Given the description of an element on the screen output the (x, y) to click on. 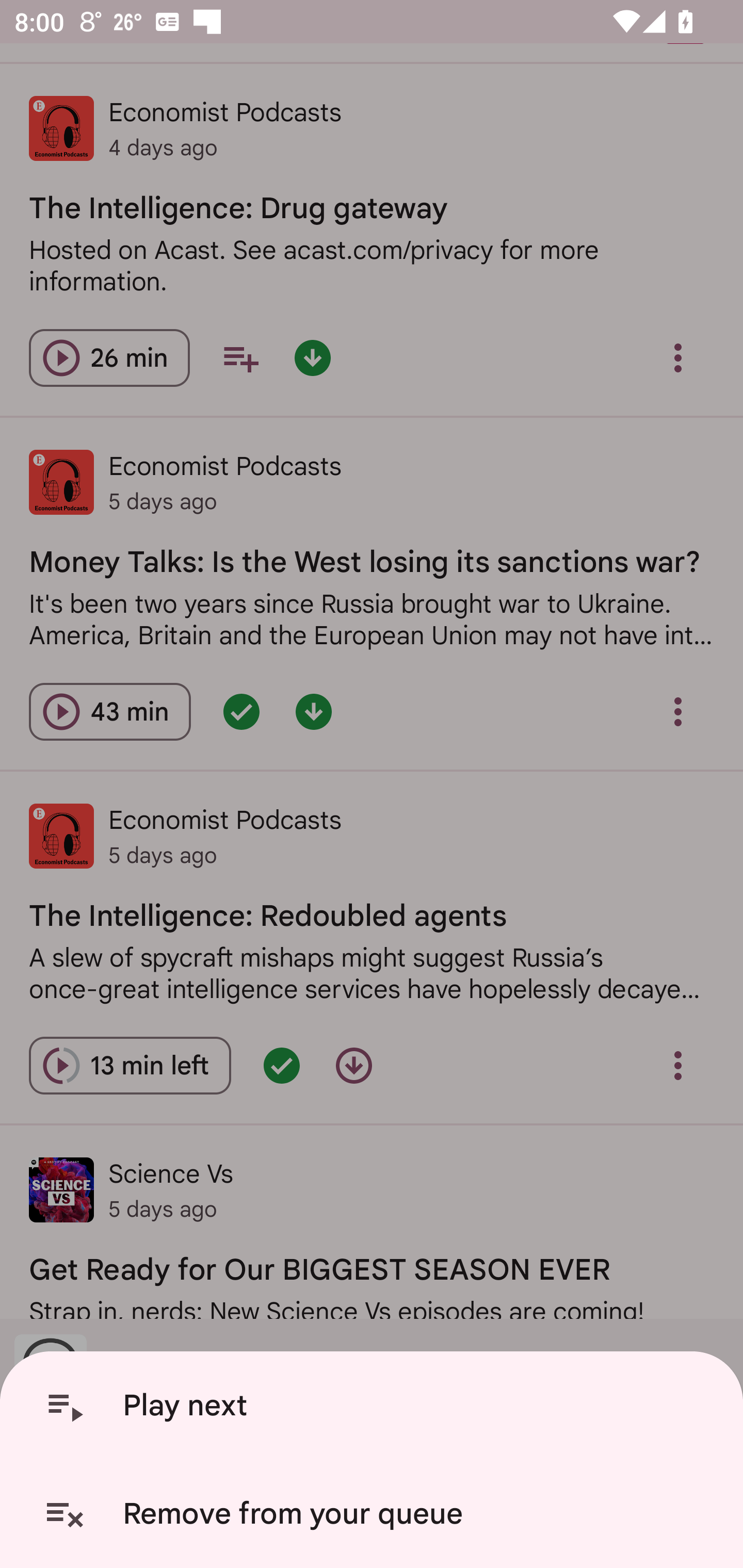
Play next (375, 1405)
Remove from your queue (375, 1513)
